Given the description of an element on the screen output the (x, y) to click on. 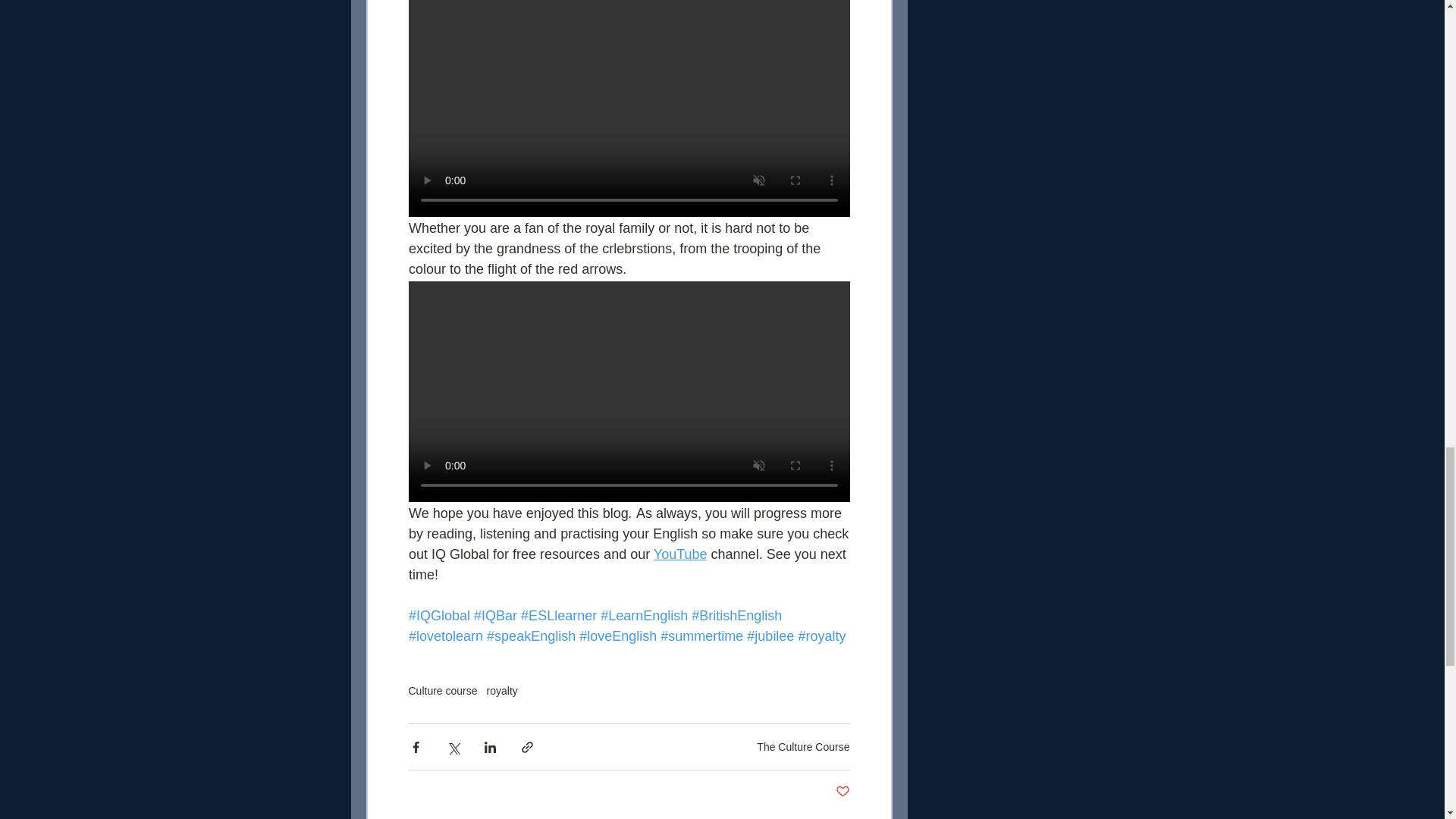
Culture course (442, 690)
Post not marked as liked (842, 791)
YouTube (679, 554)
royalty (502, 690)
The Culture Course (802, 746)
